Given the description of an element on the screen output the (x, y) to click on. 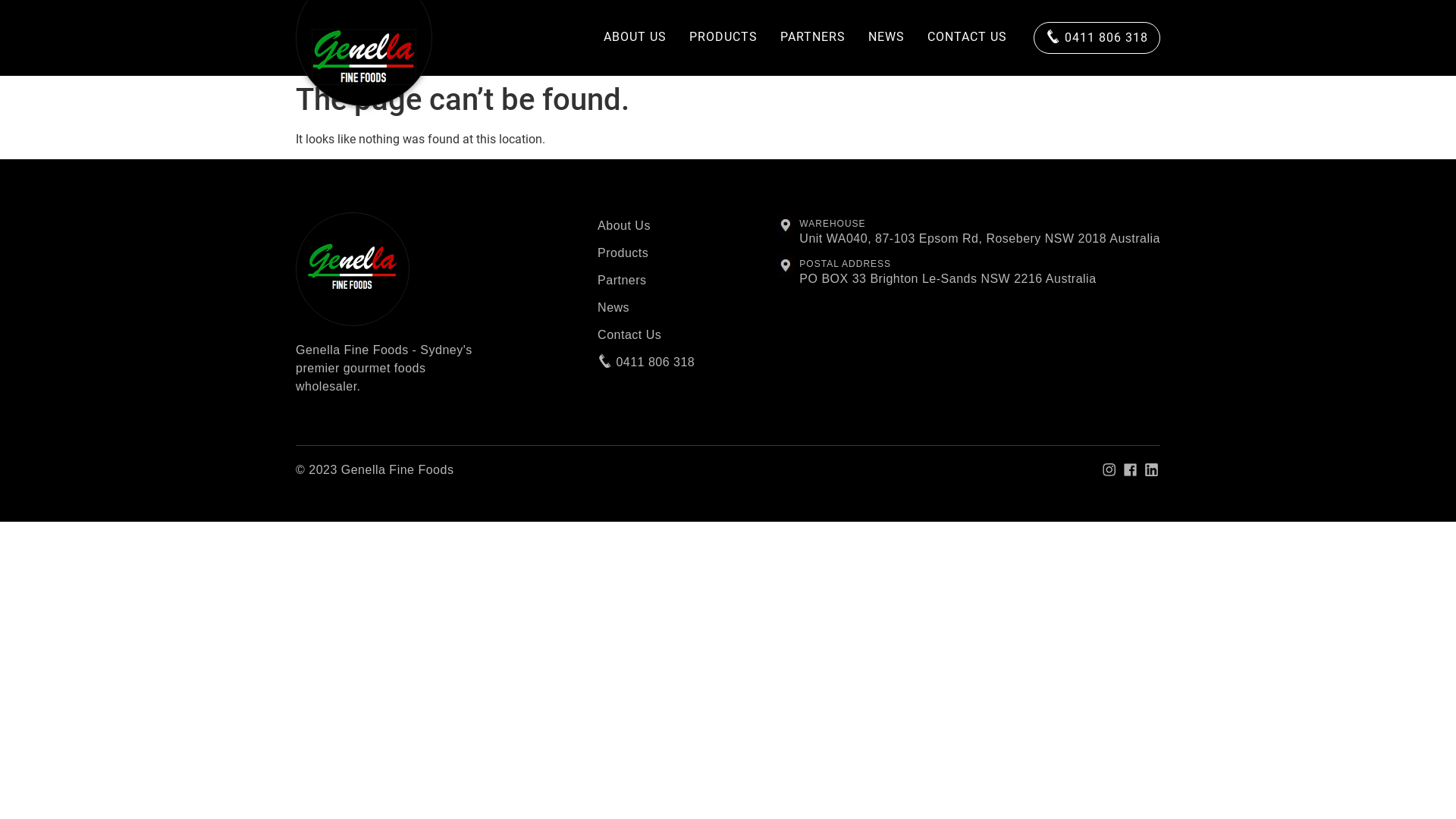
Contact Us Element type: text (645, 334)
News Element type: text (645, 307)
PRODUCTS Element type: text (722, 37)
NEWS Element type: text (886, 37)
0411 806 318 Element type: text (1096, 37)
Products Element type: text (645, 252)
About Us Element type: text (645, 225)
CONTACT US Element type: text (967, 37)
ABOUT US Element type: text (634, 37)
PARTNERS Element type: text (812, 37)
Partners Element type: text (645, 280)
0411 806 318 Element type: text (645, 362)
